Given the description of an element on the screen output the (x, y) to click on. 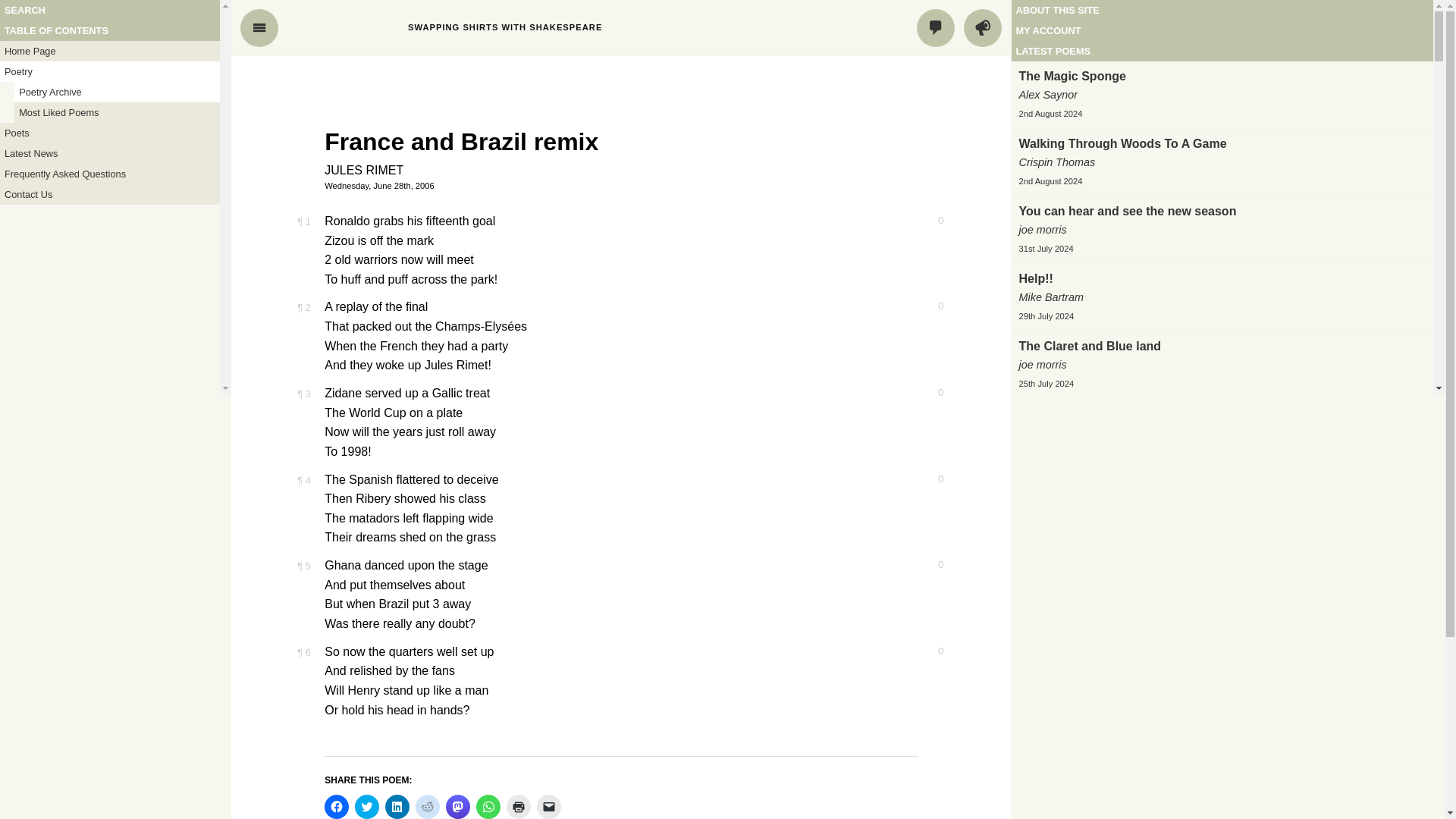
France and Brazil remix (461, 141)
ACTIVITY (982, 27)
Leave a comment on verse 6 (929, 651)
Leave a comment on verse 3 (929, 392)
Home (341, 26)
FOOTBALL POETS (341, 26)
Permalink for verse 4 (304, 480)
Poetry Archive (116, 91)
Permalink for verse 2 (304, 307)
Most Liked Poems (116, 112)
WORLD CUP 2006 DAY NINETEEN (264, 91)
Poetry (109, 71)
Leave a comment on verse 1 (929, 220)
Leave a comment on verse 4 (929, 479)
Leave a comment on verse 3 (929, 392)
